Given the description of an element on the screen output the (x, y) to click on. 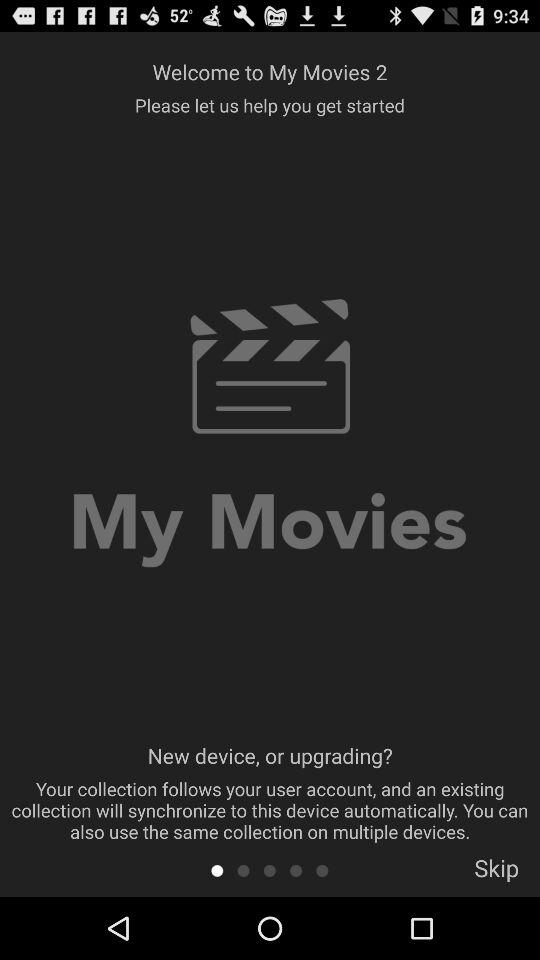
go to selected page (295, 870)
